Given the description of an element on the screen output the (x, y) to click on. 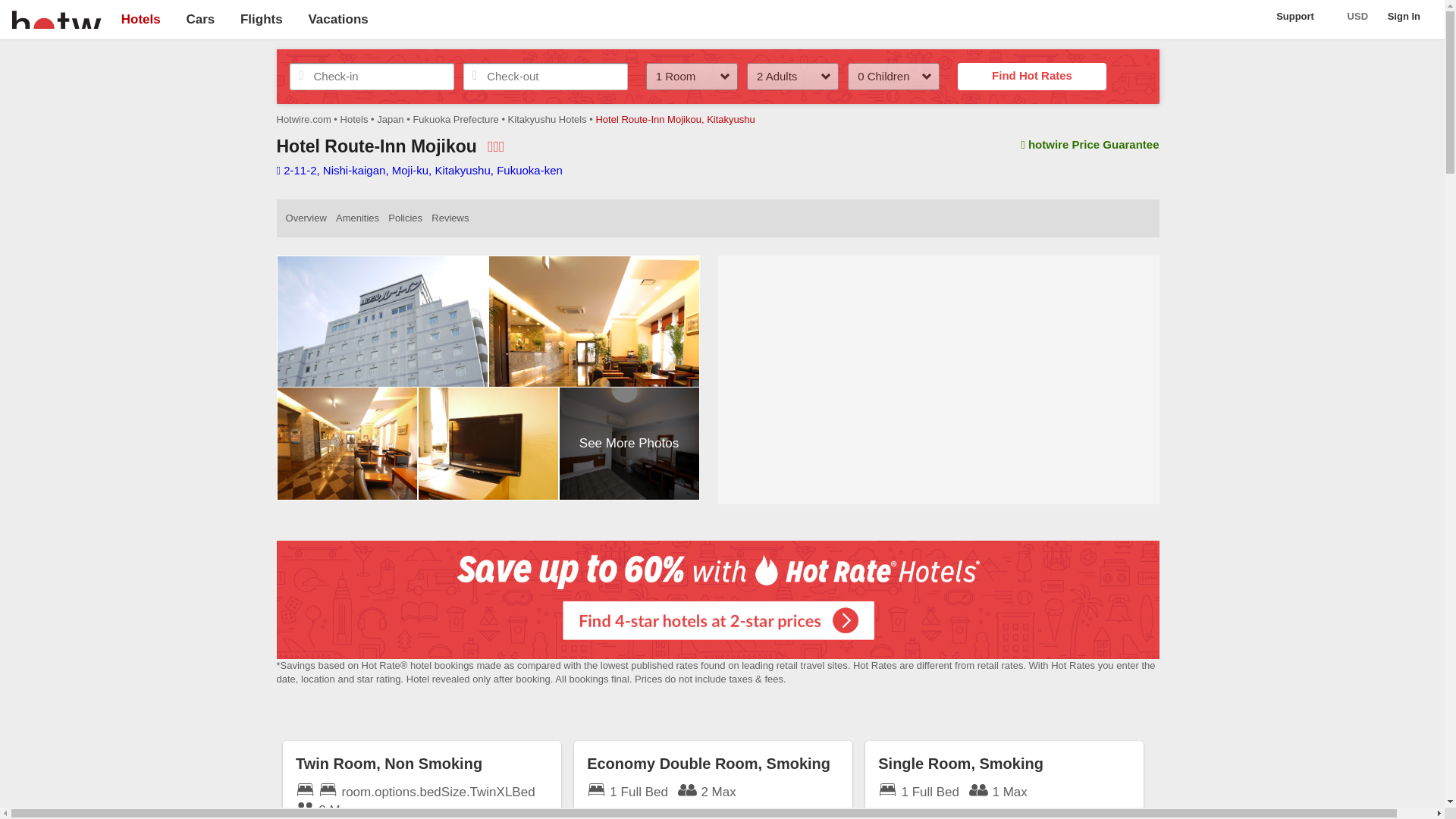
Cars (200, 19)
Hotels (140, 19)
Vacations (337, 19)
Flights (261, 19)
Hotwire (56, 18)
Support (1301, 16)
